Given the description of an element on the screen output the (x, y) to click on. 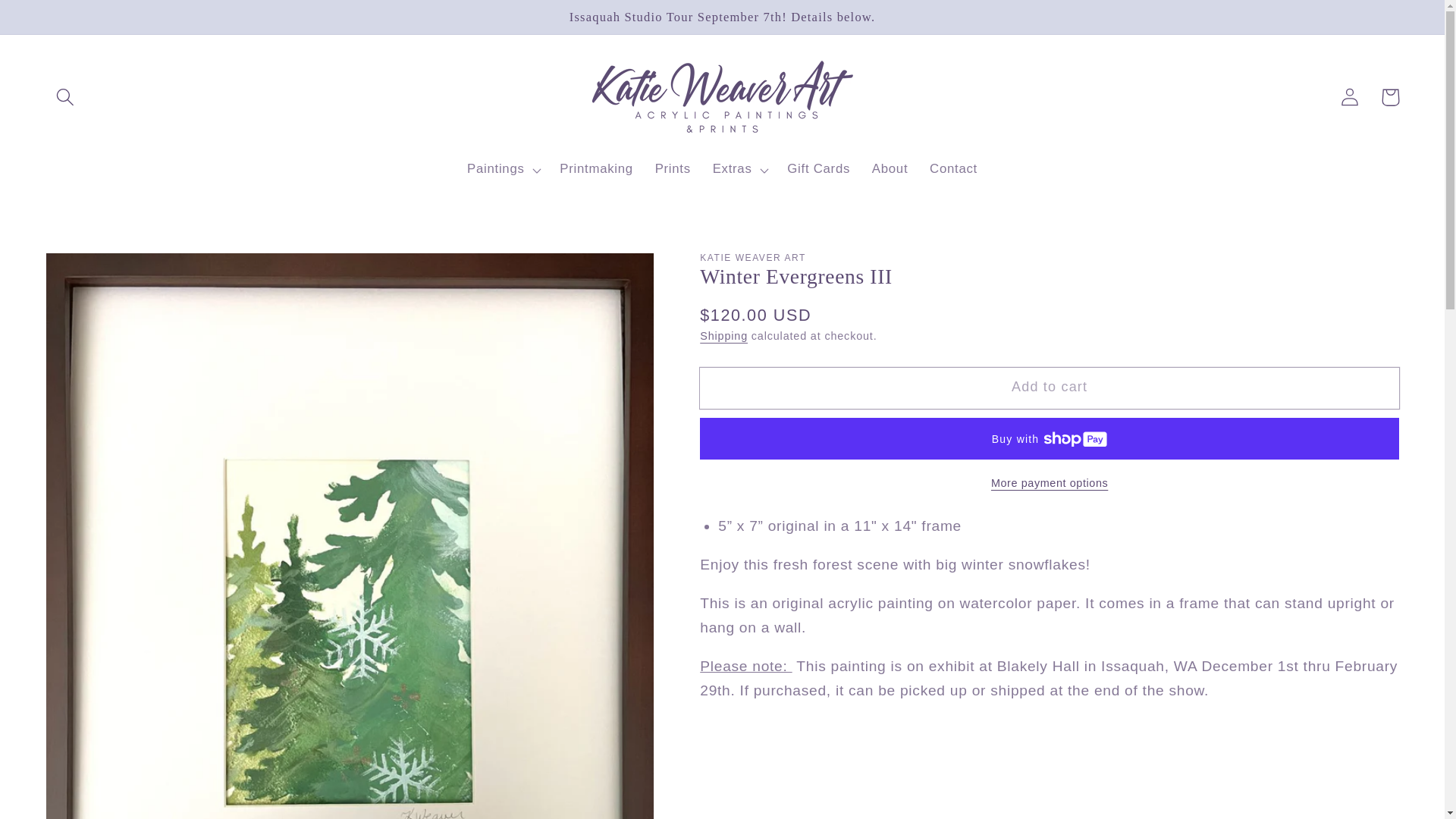
Contact (953, 169)
Prints (672, 169)
Skip to content (53, 20)
Gift Cards (818, 169)
About (889, 169)
Printmaking (595, 169)
